Given the description of an element on the screen output the (x, y) to click on. 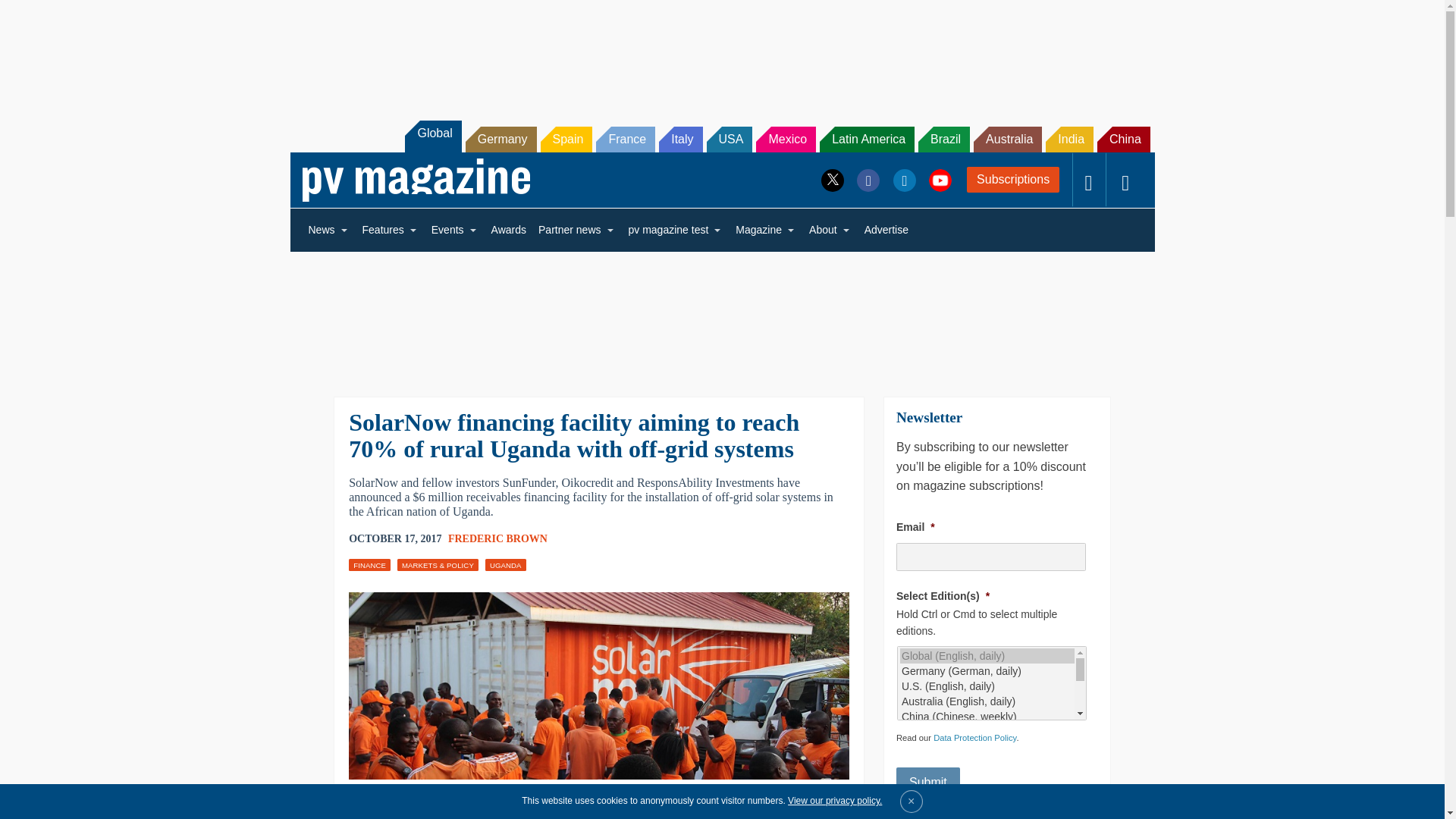
China (1123, 139)
pv magazine - Photovoltaics Markets and Technology (415, 180)
Global (432, 136)
France (625, 139)
Italy (680, 139)
Latin America (866, 139)
USA (729, 139)
3rd party ad content (721, 51)
3rd party ad content (721, 314)
India (1069, 139)
Brazil (943, 139)
Tuesday, October 17, 2017, 6:11 pm (395, 538)
Australia (1008, 139)
Germany (501, 139)
Submit (927, 782)
